Given the description of an element on the screen output the (x, y) to click on. 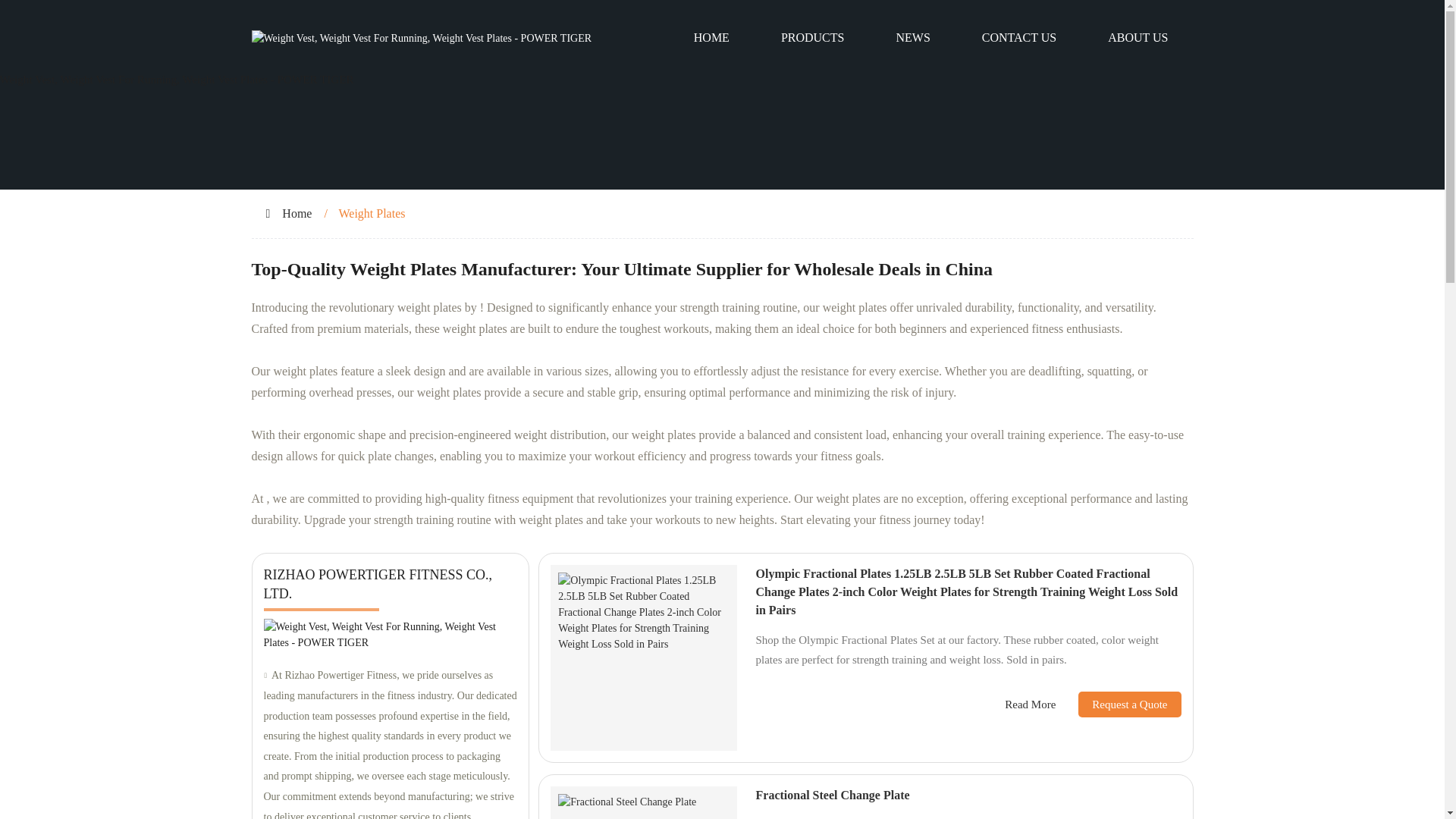
Request a Quote (1117, 704)
Home (296, 213)
PRODUCTS (812, 38)
CONTACT US (1018, 38)
Read More (1029, 704)
